Given the description of an element on the screen output the (x, y) to click on. 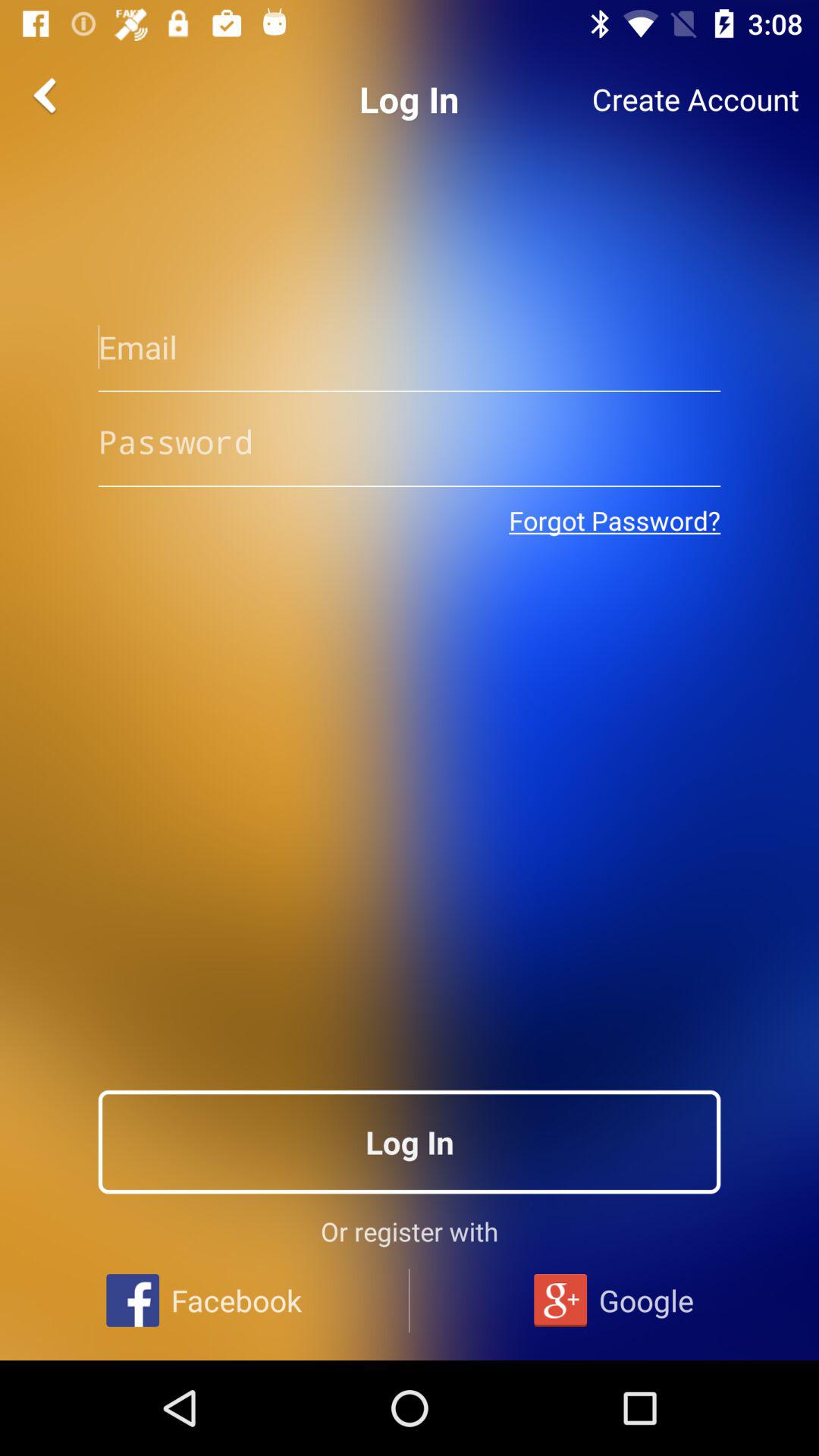
turn on the app below log in (409, 347)
